Given the description of an element on the screen output the (x, y) to click on. 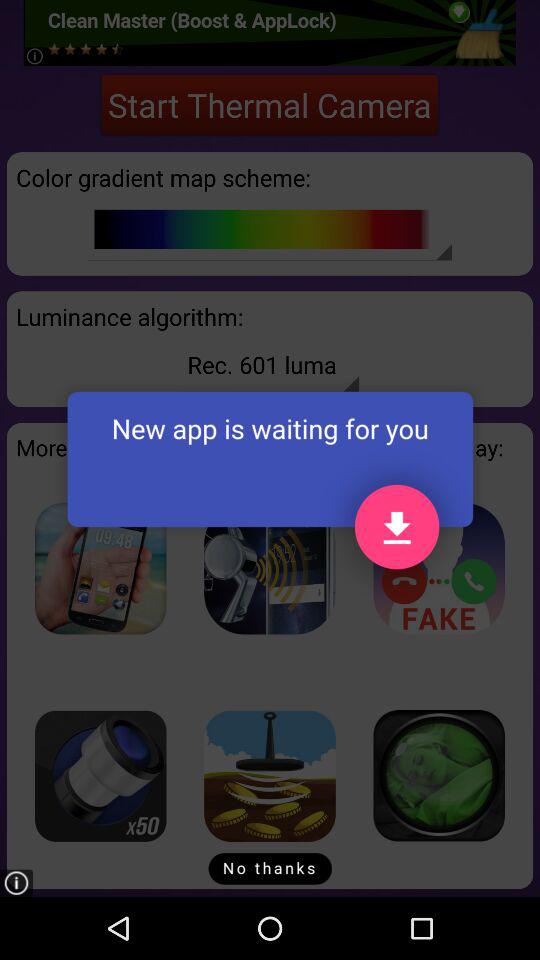
toggle fake option (439, 568)
